Given the description of an element on the screen output the (x, y) to click on. 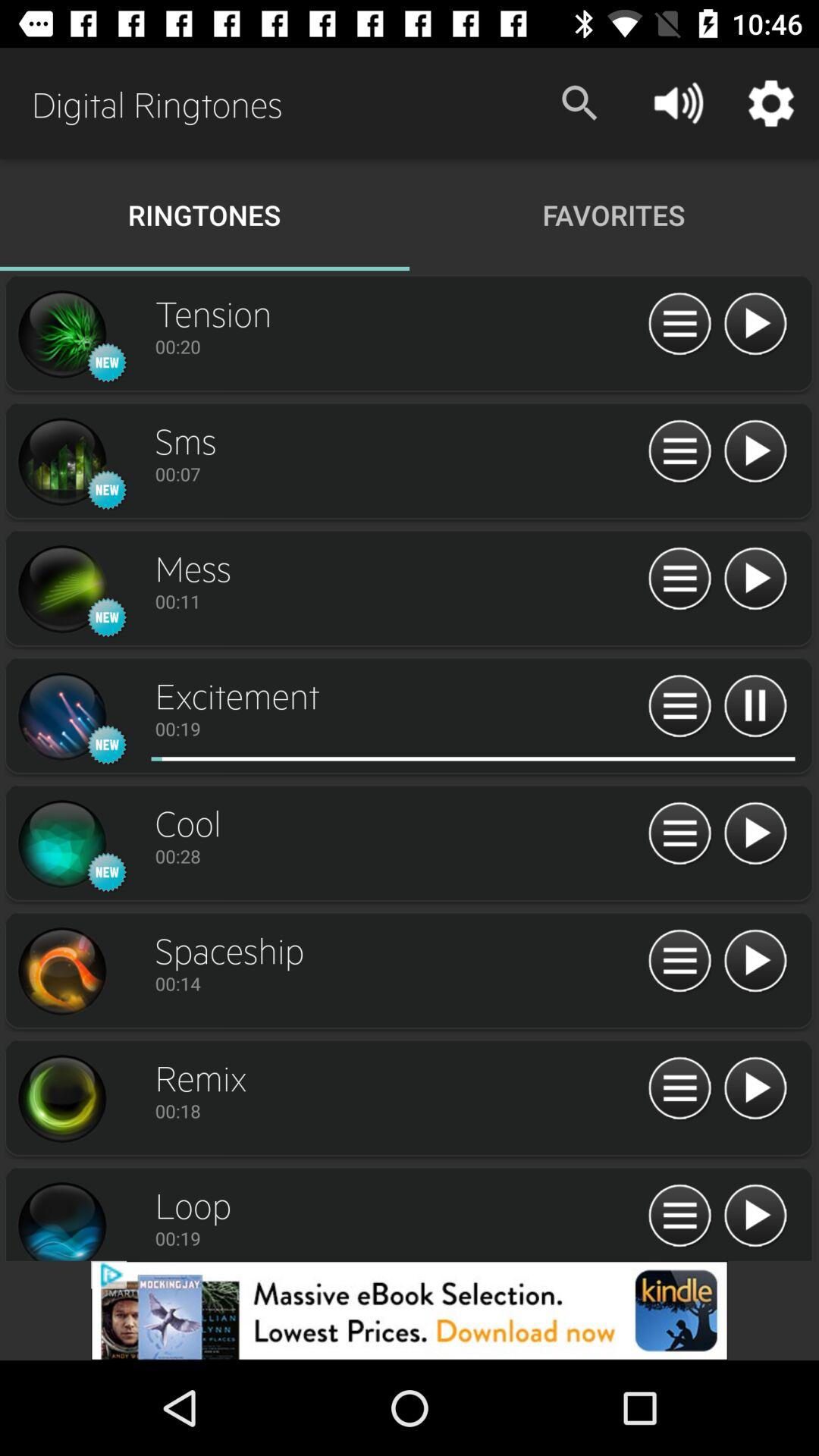
play 'tension (755, 324)
